Given the description of an element on the screen output the (x, y) to click on. 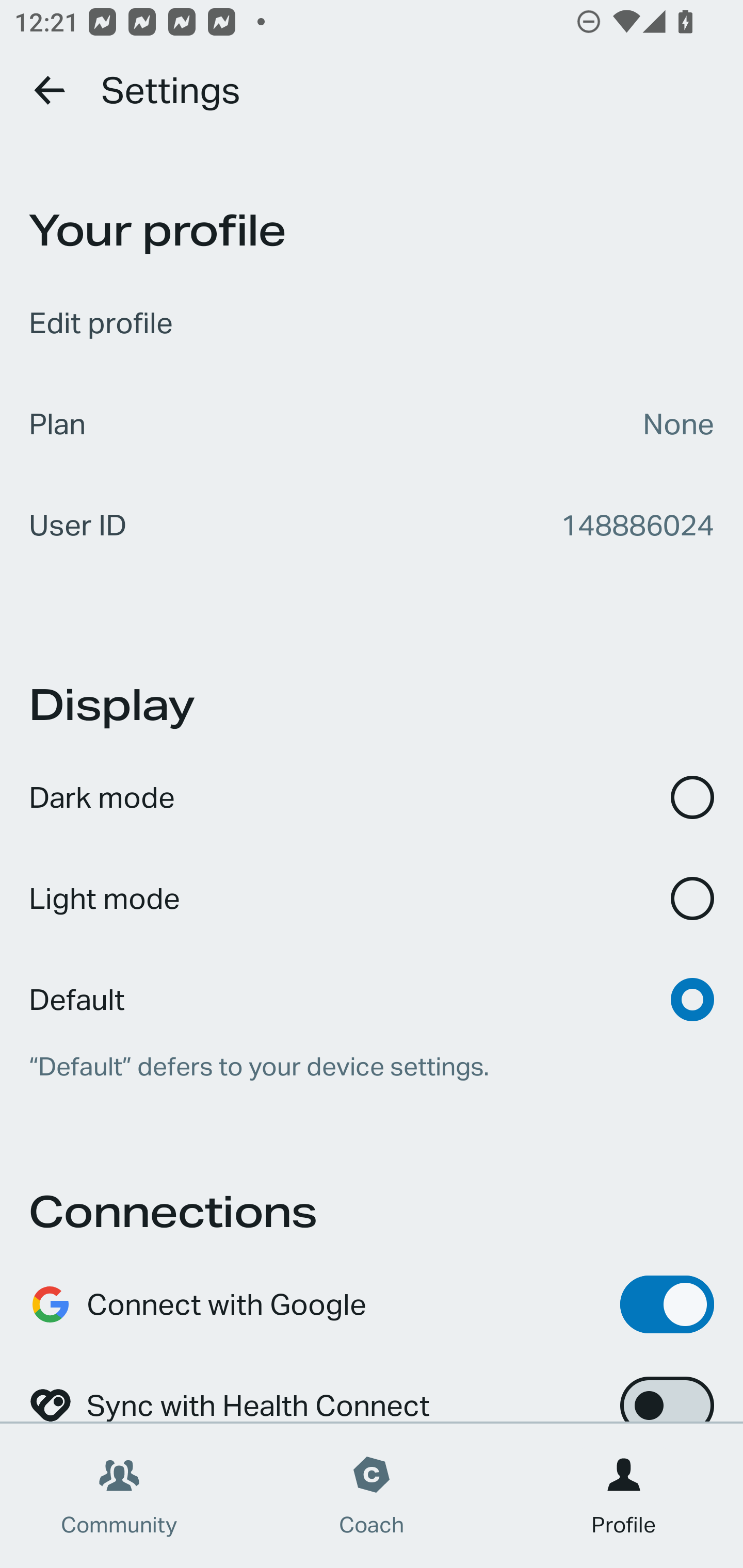
Go back (50, 90)
Edit profile (371, 322)
Plan None (371, 424)
User ID 148886024 (371, 525)
Dark mode (371, 797)
Light mode (371, 898)
Default (371, 985)
“Default” defers to your device settings. (371, 1066)
Connect with Google (371, 1304)
Sync with Health Connect (371, 1388)
Community (119, 1495)
Coach (371, 1495)
